Given the description of an element on the screen output the (x, y) to click on. 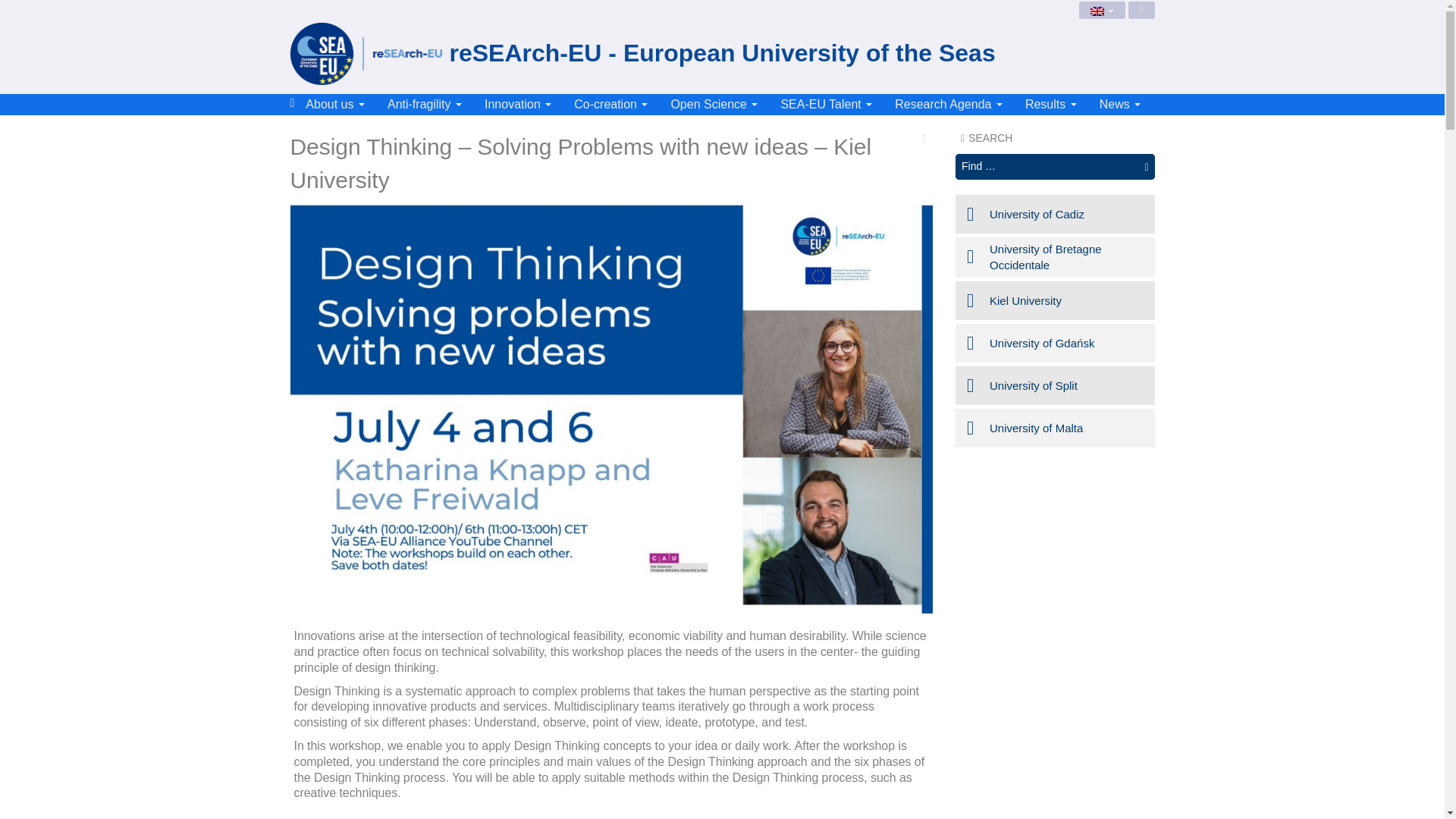
About us (334, 104)
Anti-fragility (424, 104)
Innovation (517, 104)
Co-creation (610, 104)
English (1101, 9)
Innovation (517, 104)
reSEArch-EU - European University of the Seas (721, 53)
About us (334, 104)
Site Management (1141, 9)
Anti-fragility (424, 104)
